Given the description of an element on the screen output the (x, y) to click on. 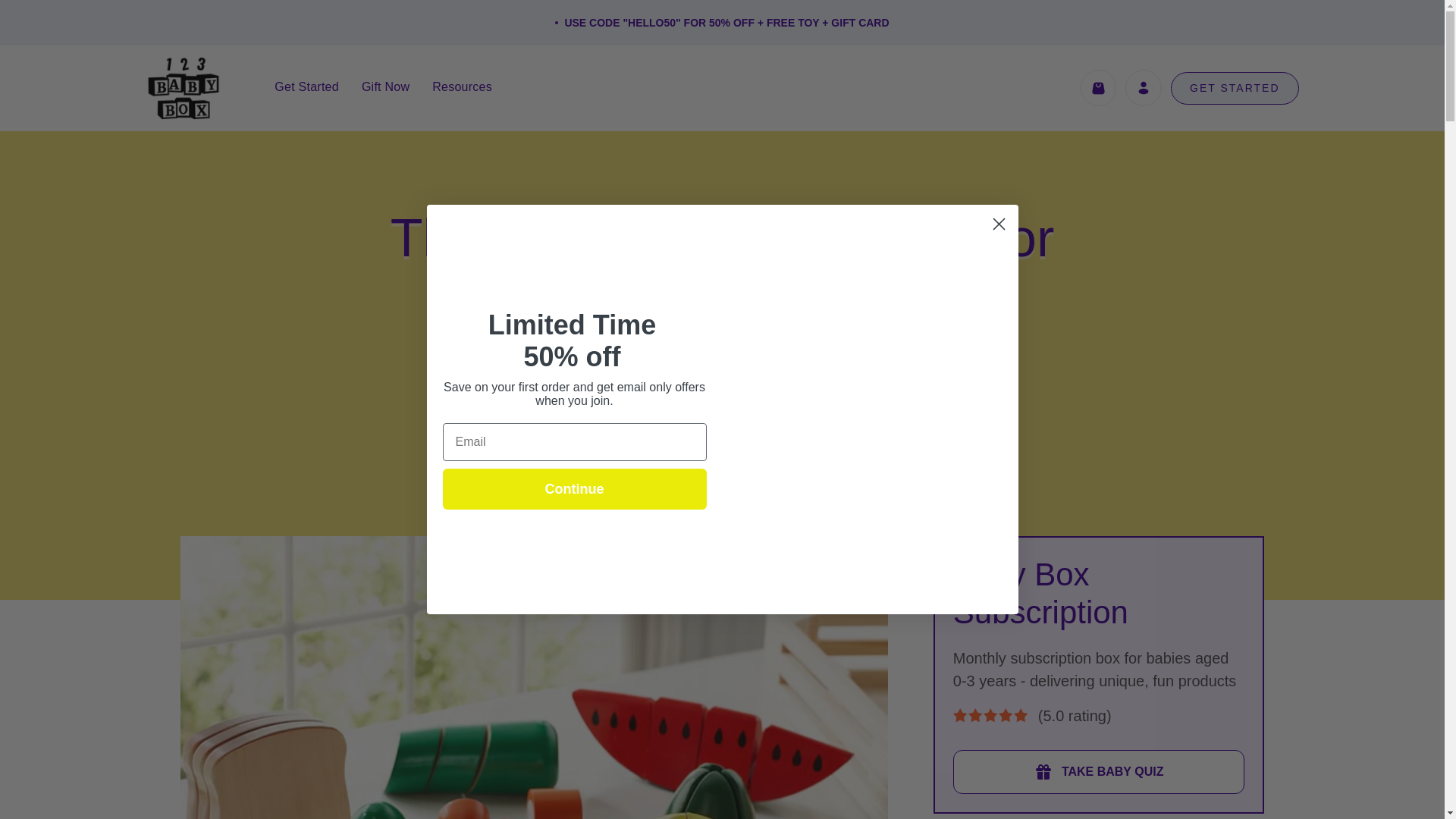
TAKE BABY QUIZ (1098, 771)
TAKE OUR BABY QUIZ (722, 436)
Resources (462, 86)
GET STARTED (1234, 88)
Gift Now (384, 86)
Get Started (306, 86)
